Given the description of an element on the screen output the (x, y) to click on. 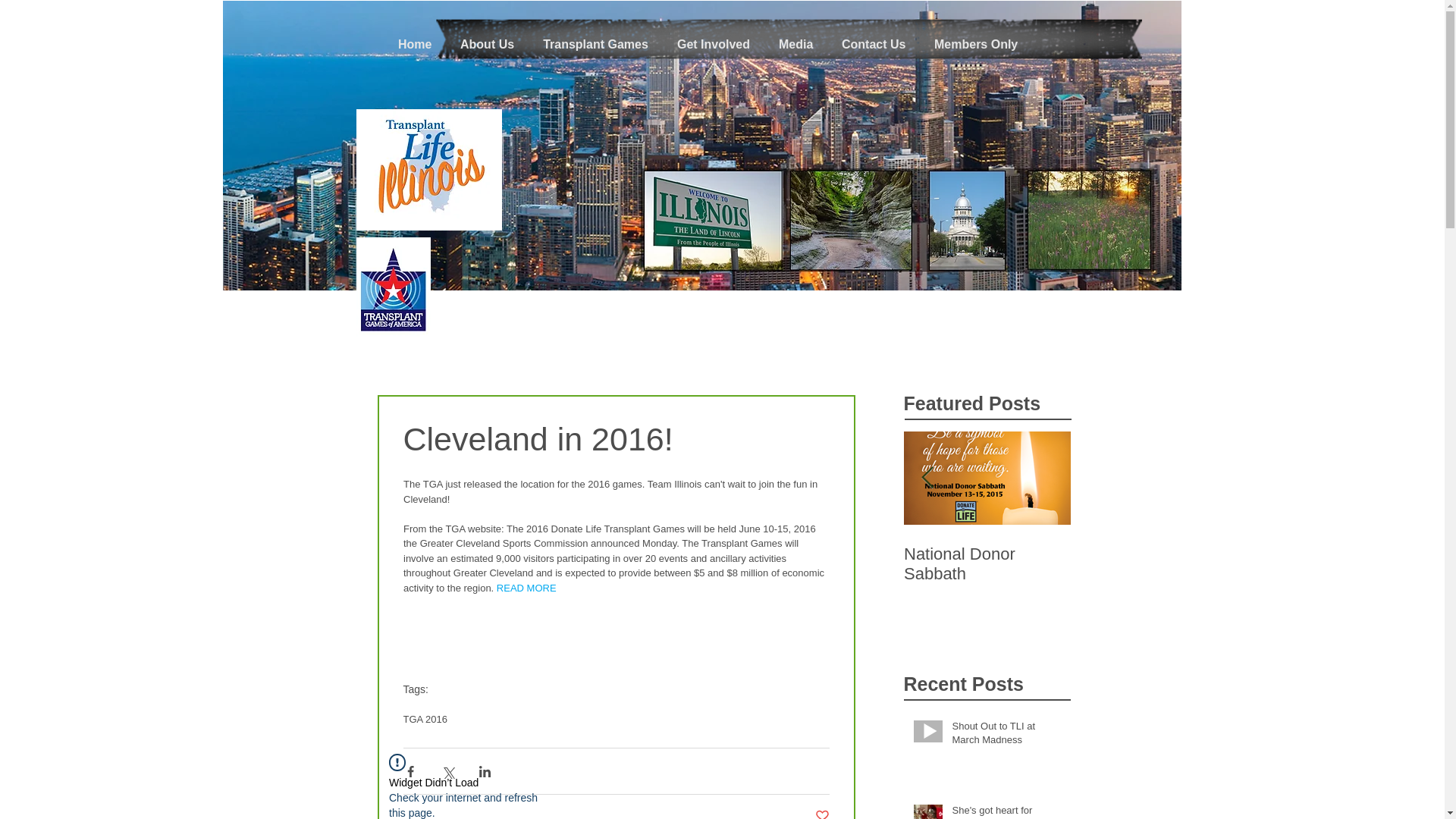
Transplant Games (595, 44)
National Donor Sabbath (987, 563)
Shout Out to TLI at March Madness (1006, 735)
Home (414, 44)
She's got heart for American Heart Month (1006, 811)
Register now for Team Illinois! (1153, 563)
Post not marked as liked (820, 813)
Get Involved (713, 44)
READ MORE (526, 587)
About Us (486, 44)
Media (795, 44)
Contact Us (873, 44)
Members Only (976, 44)
Introducing Randy Zwier (1321, 563)
TGA 2016 (425, 718)
